Given the description of an element on the screen output the (x, y) to click on. 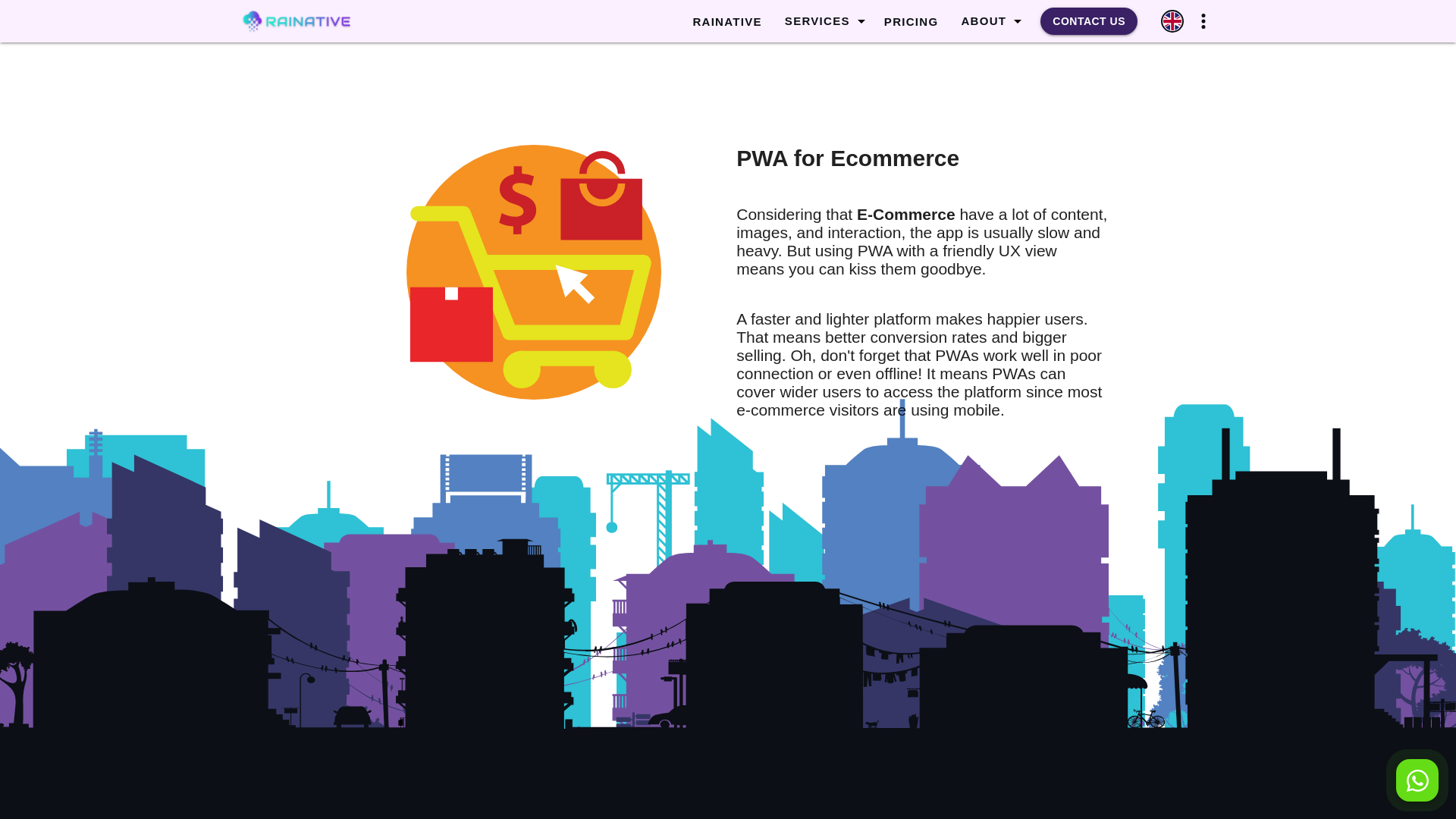
PRICING (911, 21)
Translate This Page (1172, 21)
More Menu (1203, 21)
SERVICES (817, 21)
Raninative (328, 21)
Action Button (1417, 780)
RAINATIVE (727, 21)
CONTACT US (1089, 21)
ABOUT (983, 21)
